Given the description of an element on the screen output the (x, y) to click on. 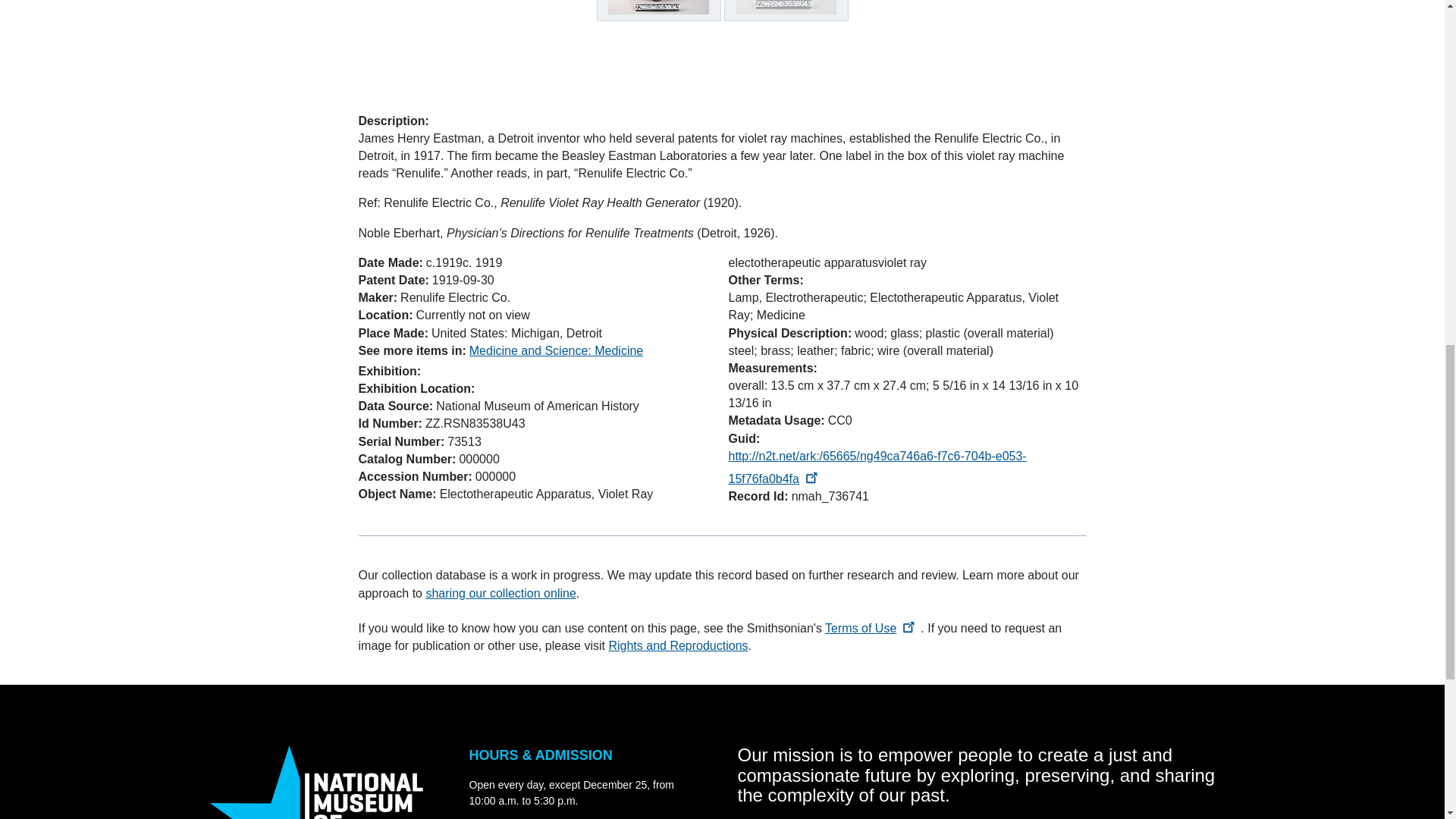
Medicine and Science: Medicine (555, 350)
